Given the description of an element on the screen output the (x, y) to click on. 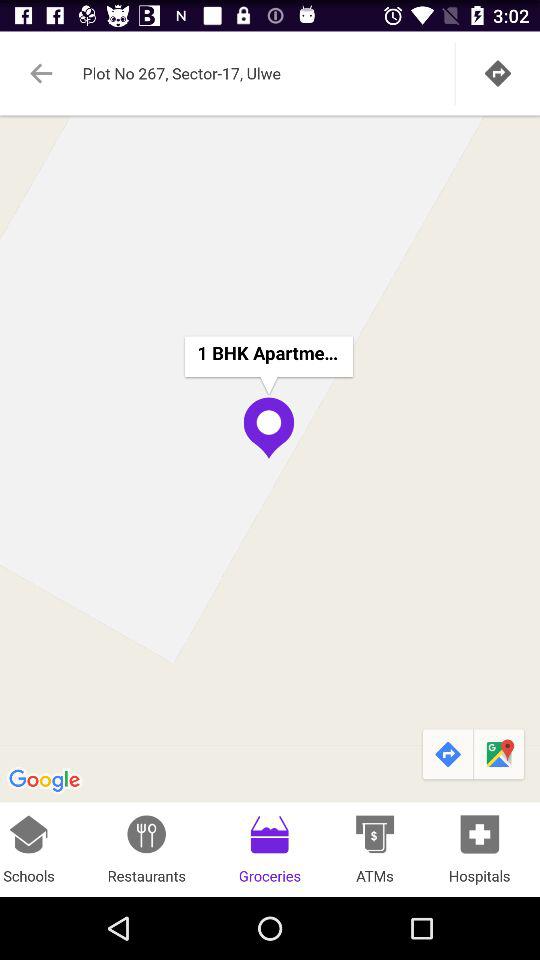
select google (46, 781)
tap the go icon at the top right corner (498, 73)
select the directions icon which is next to google logo (447, 755)
click on the left arrow option that is on top left (41, 73)
